Given the description of an element on the screen output the (x, y) to click on. 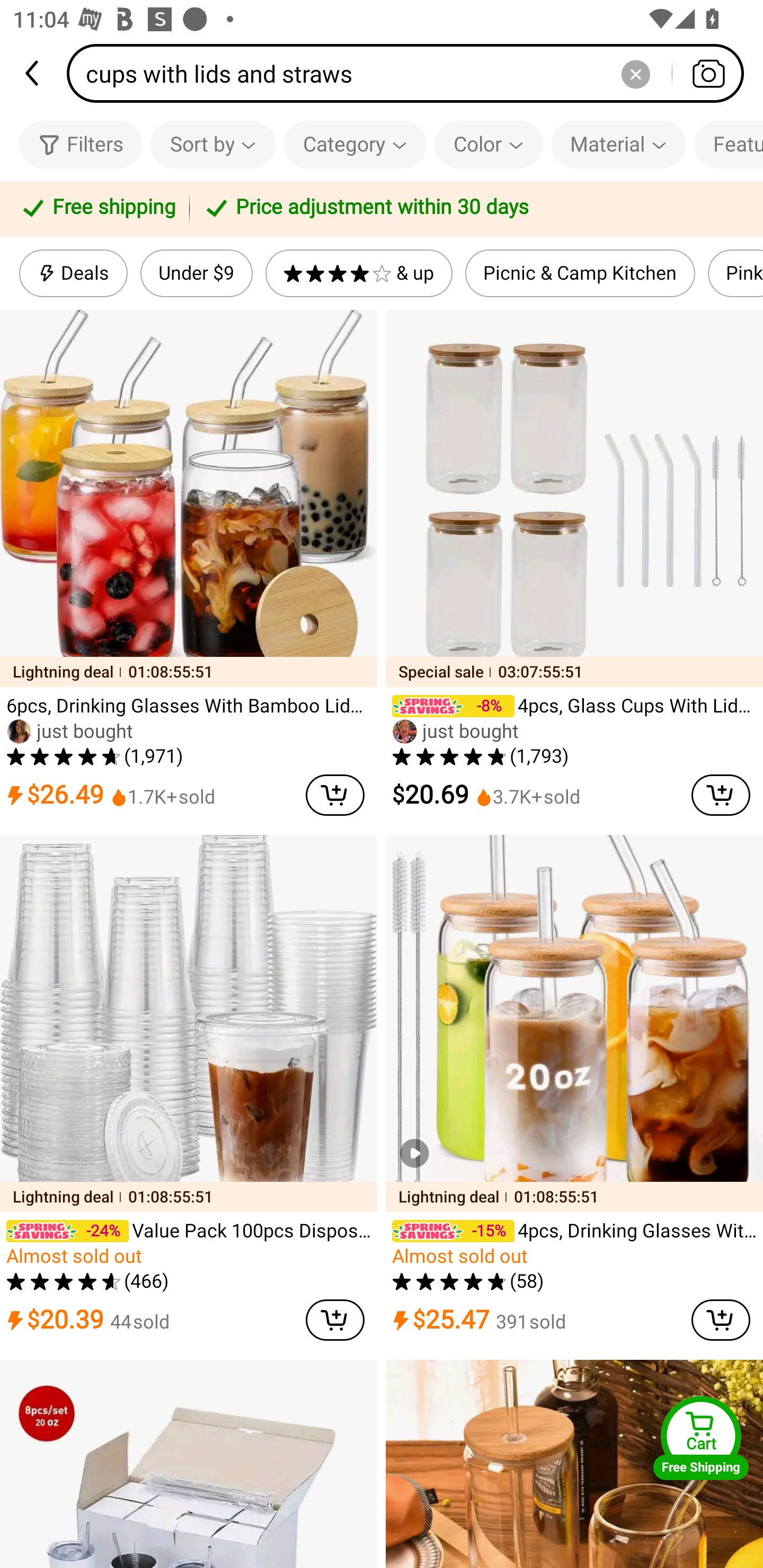
back (33, 72)
cups with lids and straws (411, 73)
Delete search history (635, 73)
Search by photo (708, 73)
Filters (80, 143)
Sort by (212, 143)
Category (354, 143)
Color (488, 143)
Material (617, 143)
Free shipping (97, 208)
Price adjustment within 30 days (472, 208)
Deals (73, 273)
Under $9 (196, 273)
& up (358, 273)
Picnic & Camp Kitchen (580, 273)
cart delete (334, 794)
cart delete (720, 794)
cart delete (334, 1319)
cart delete (720, 1319)
Cart Free Shipping Cart (701, 1437)
